Given the description of an element on the screen output the (x, y) to click on. 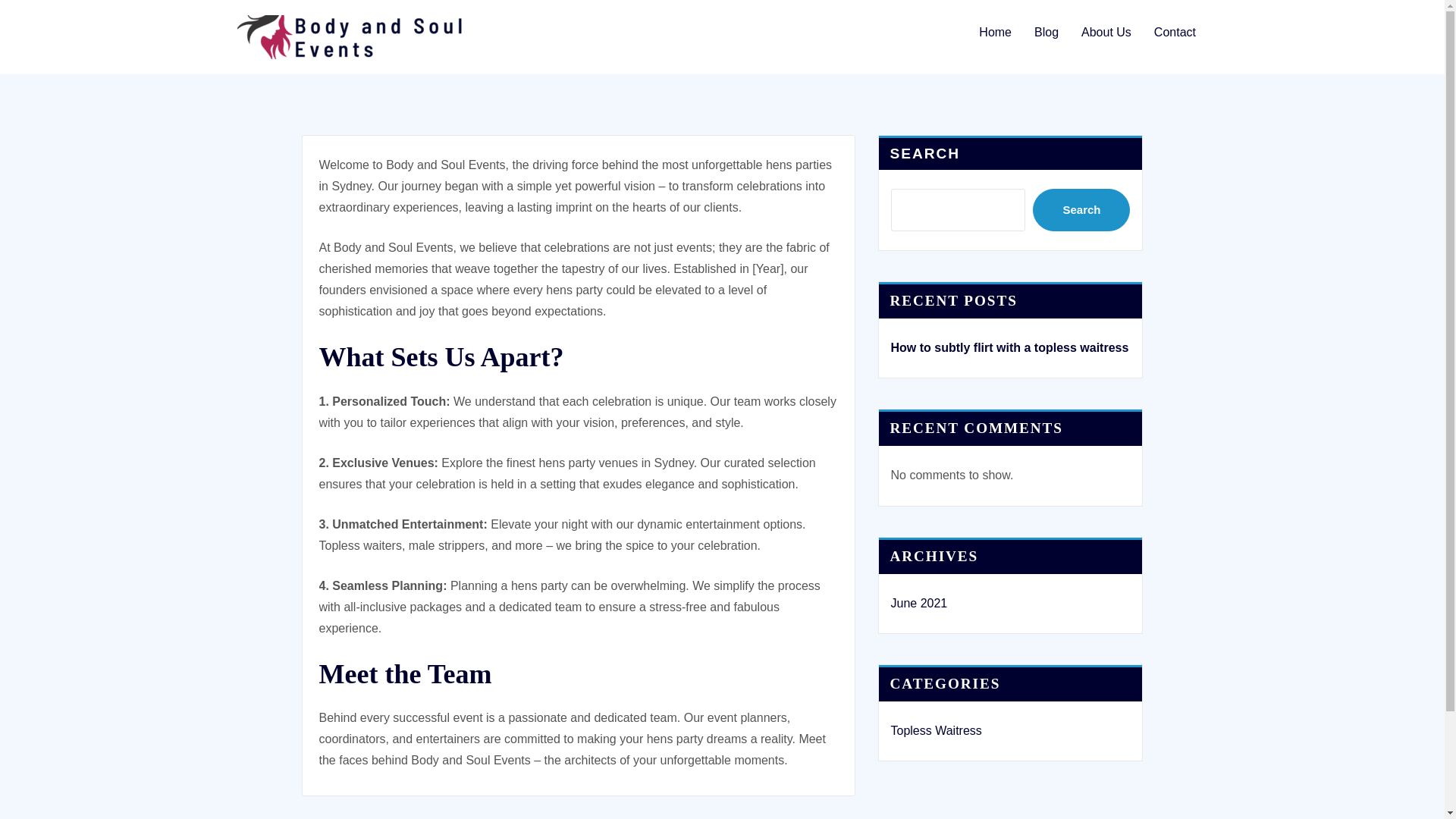
Blog (1046, 32)
Topless Waitress (935, 730)
About Us (1106, 32)
June 2021 (918, 603)
How to subtly flirt with a topless waitress (1008, 347)
Contact (1174, 32)
Home (995, 32)
Search (1080, 209)
